Given the description of an element on the screen output the (x, y) to click on. 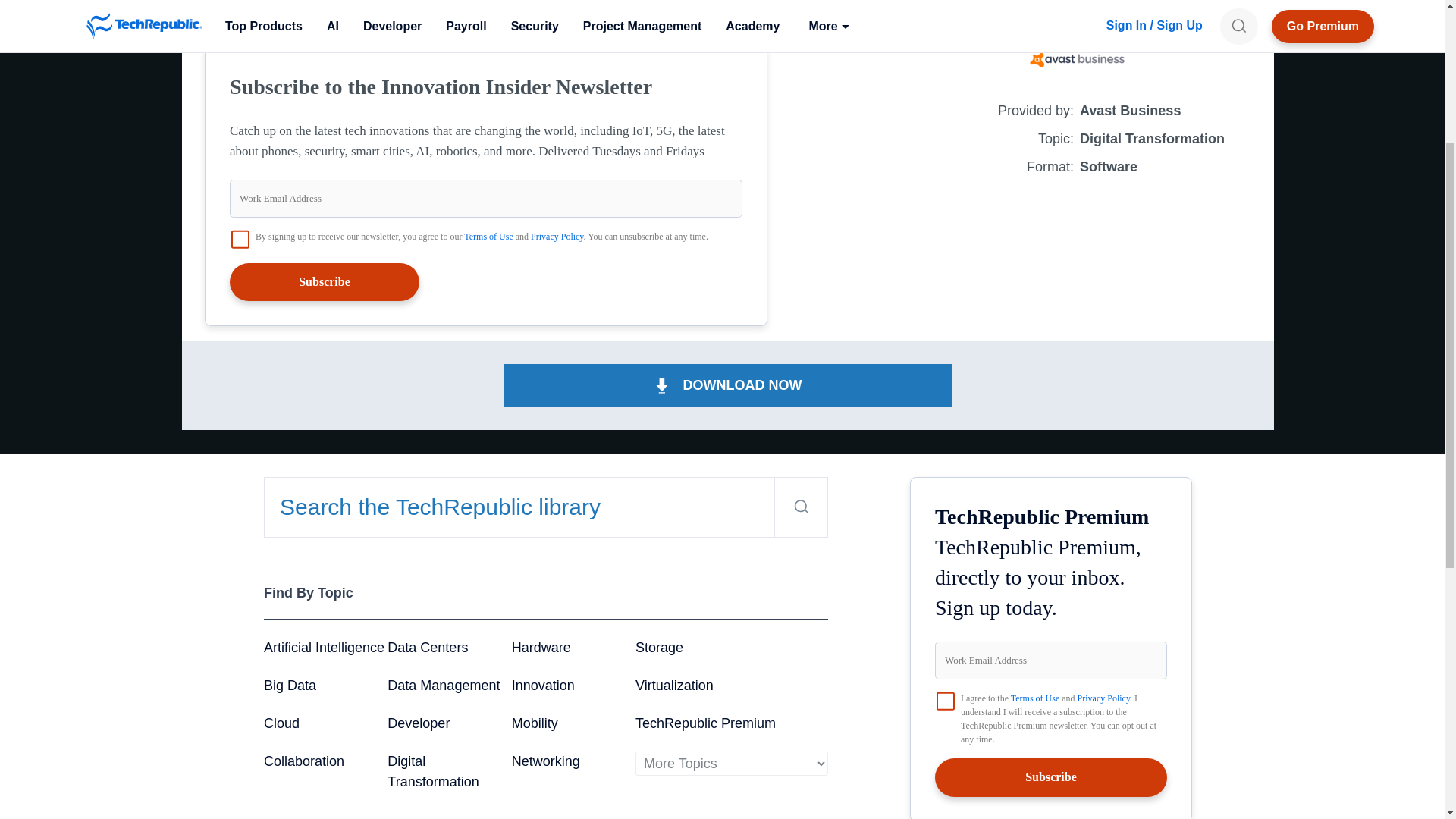
on (239, 239)
Subscribe (324, 281)
on (945, 701)
Privacy Policy (557, 235)
Try now for FREE! (257, 22)
Terms of Use (488, 235)
